Given the description of an element on the screen output the (x, y) to click on. 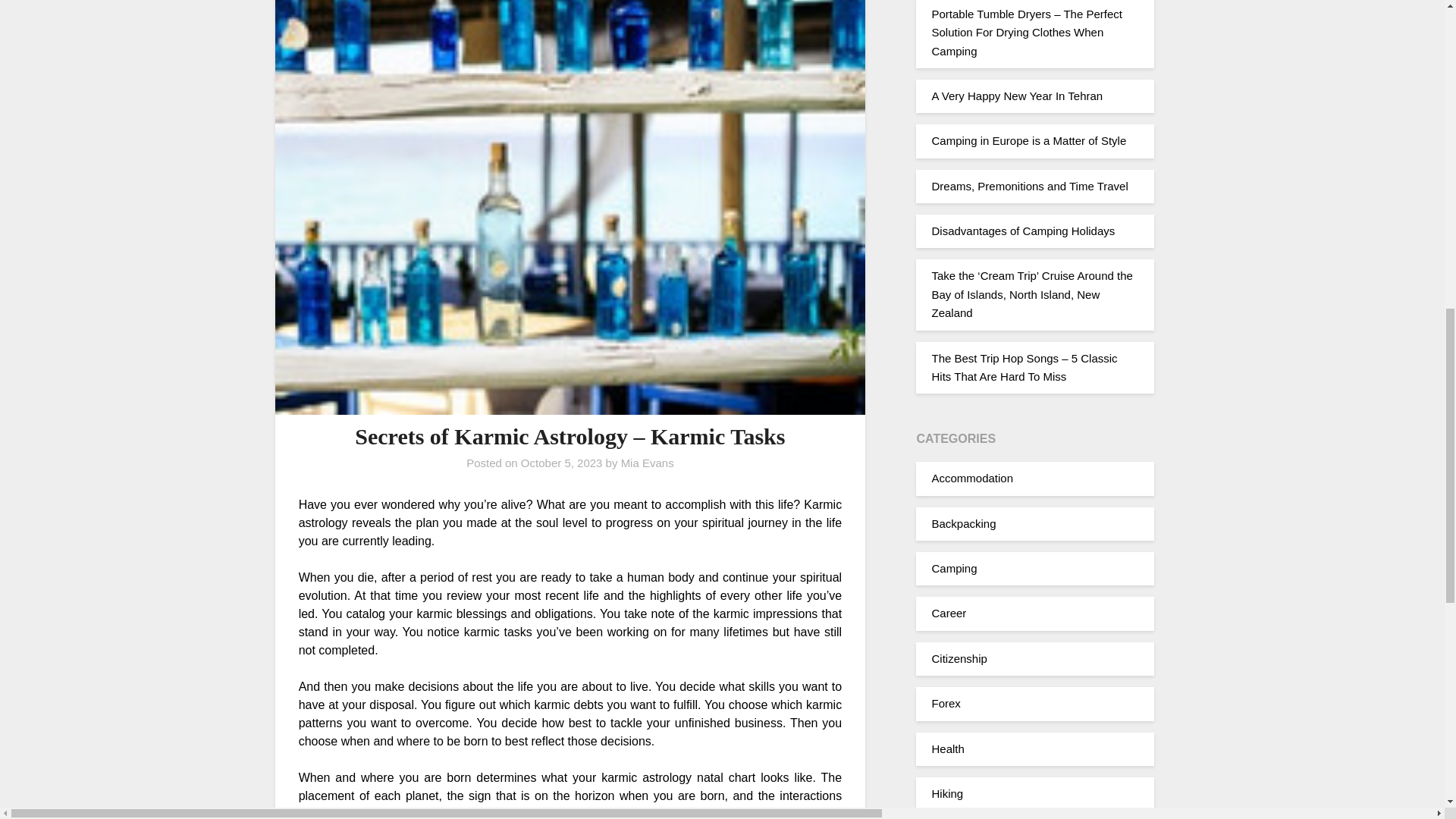
Camping in Europe is a Matter of Style (1028, 140)
Citizenship (959, 658)
A Very Happy New Year In Tehran (1016, 95)
Accommodation (972, 477)
October 5, 2023 (561, 462)
Backpacking (963, 522)
Forex (945, 703)
Dreams, Premonitions and Time Travel (1028, 185)
Camping (953, 567)
Hiking (946, 793)
